Given the description of an element on the screen output the (x, y) to click on. 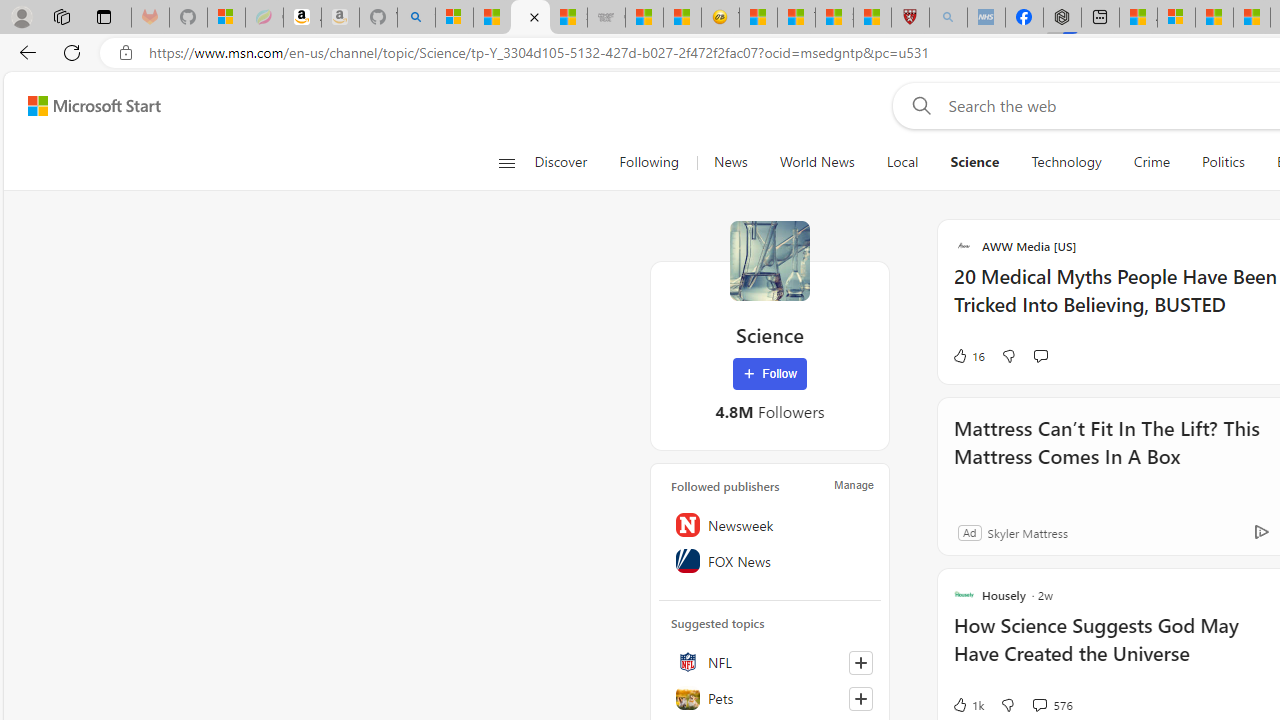
Newsweek (770, 525)
